Given the description of an element on the screen output the (x, y) to click on. 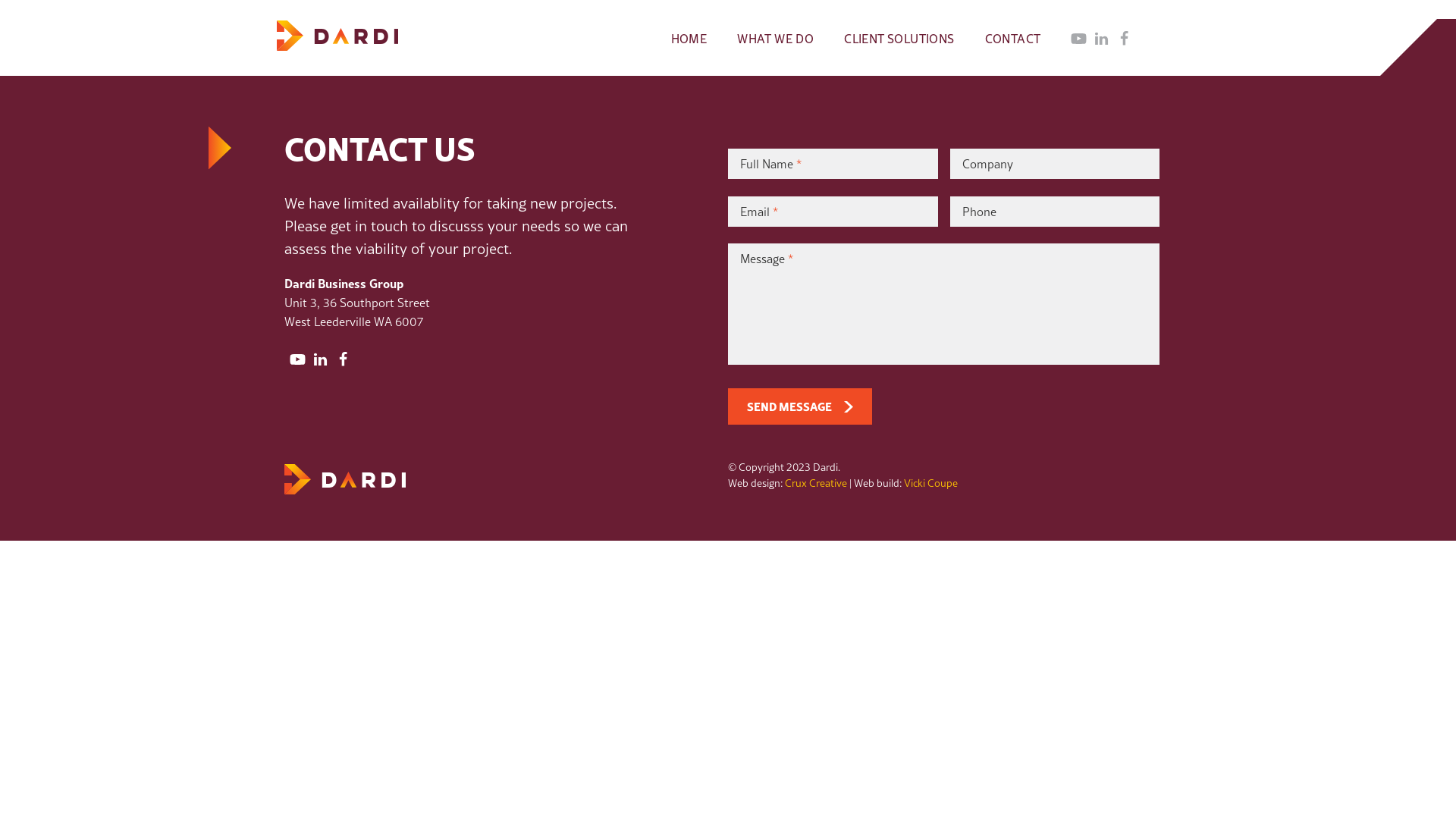
Crux Creative Element type: text (815, 481)
CLIENT SOLUTIONS Element type: text (898, 37)
HOME Element type: text (689, 37)
SEND MESSAGE Element type: text (800, 406)
CONTACT Element type: text (1013, 37)
WHAT WE DO Element type: text (775, 37)
Vicki Coupe Element type: text (930, 481)
